Given the description of an element on the screen output the (x, y) to click on. 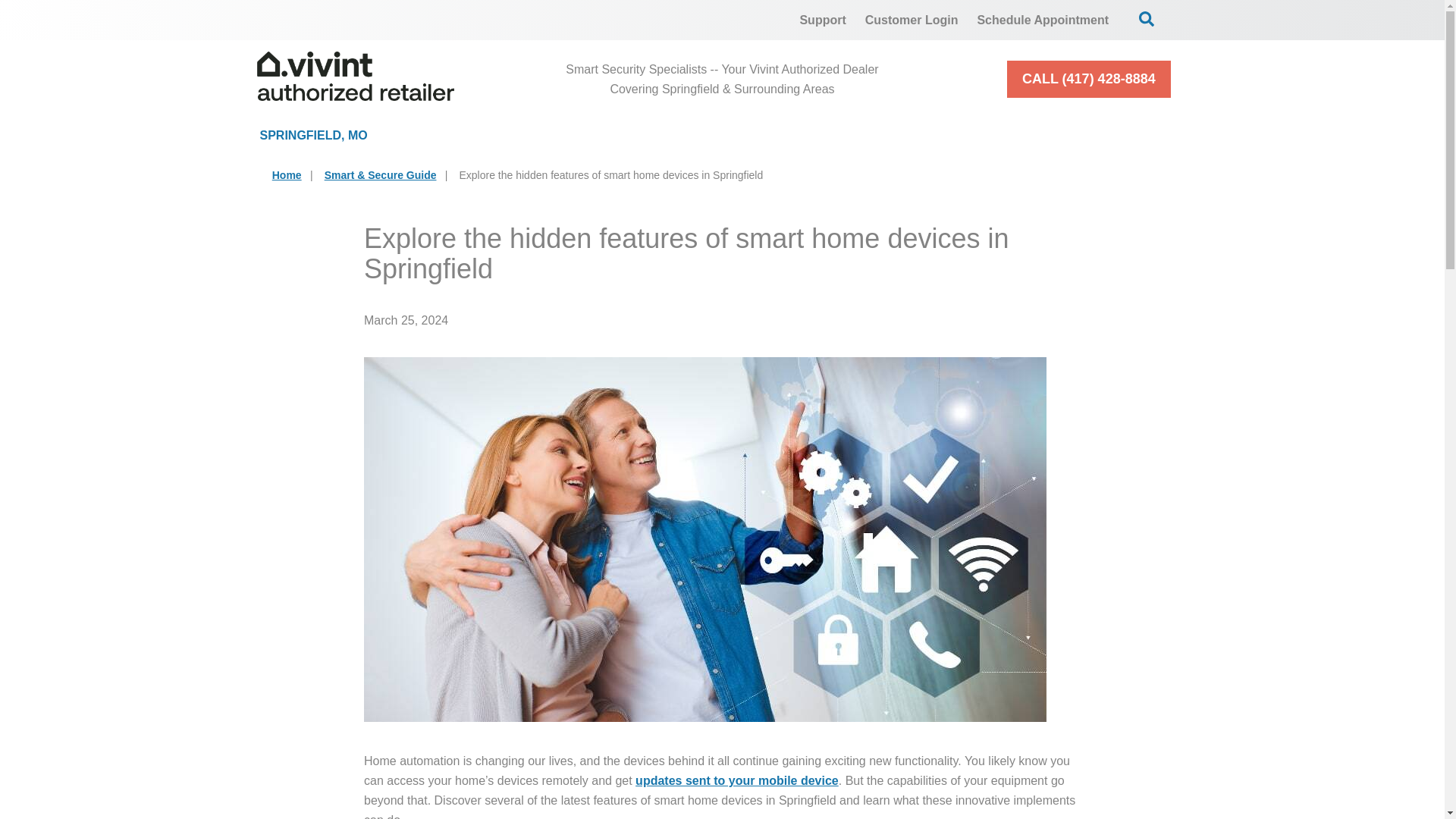
Customer Login (911, 20)
Home Security (503, 135)
Home (286, 174)
Open Search (1146, 18)
updates sent to your mobile device (736, 780)
Notifications sent to your smartphone (736, 780)
Cameras (672, 135)
Support (822, 20)
Schedule Appointment (1042, 20)
Smart Home Automation (868, 135)
